Given the description of an element on the screen output the (x, y) to click on. 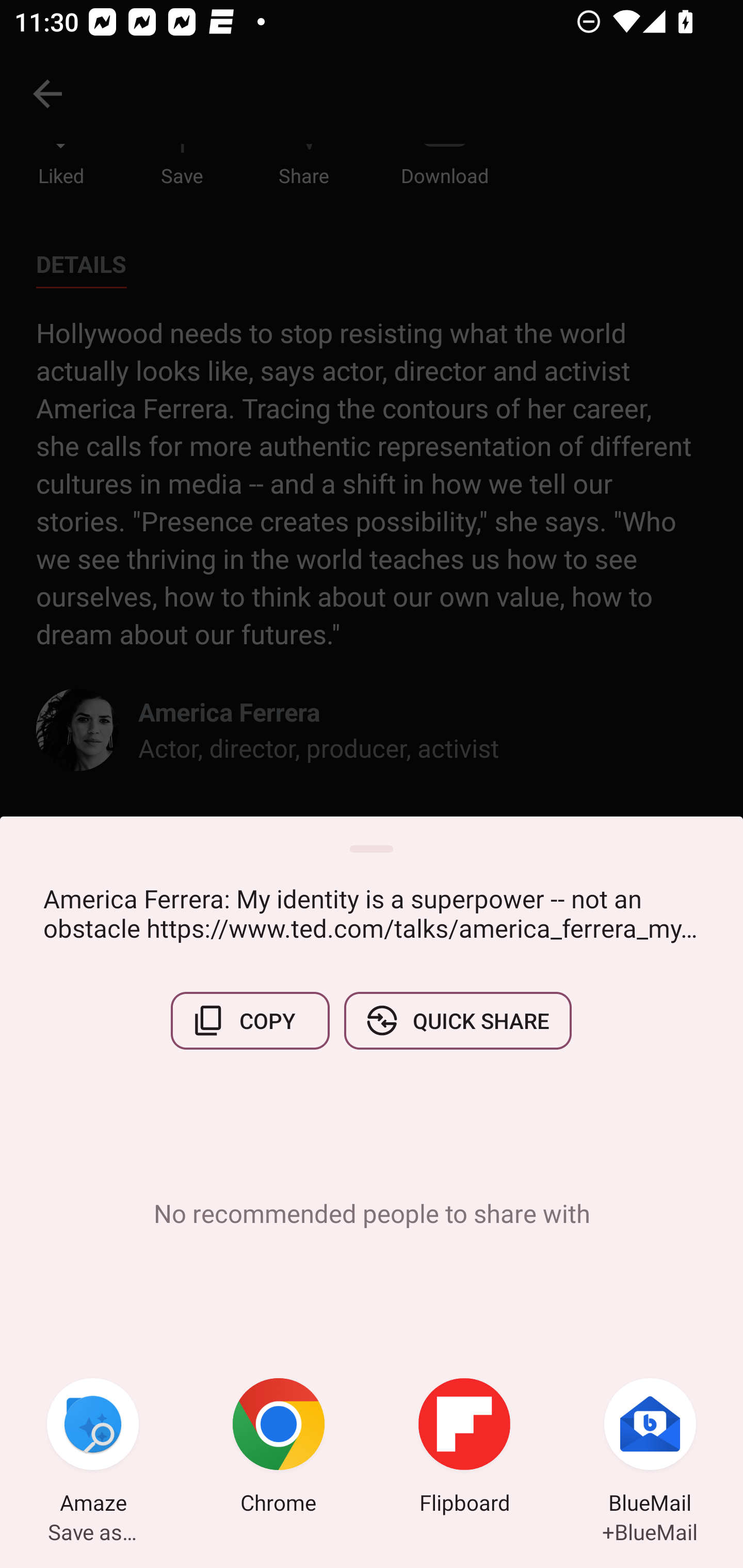
COPY (249, 1020)
QUICK SHARE (457, 1020)
Amaze Save as… (92, 1448)
Chrome (278, 1448)
Flipboard (464, 1448)
BlueMail +BlueMail (650, 1448)
